Given the description of an element on the screen output the (x, y) to click on. 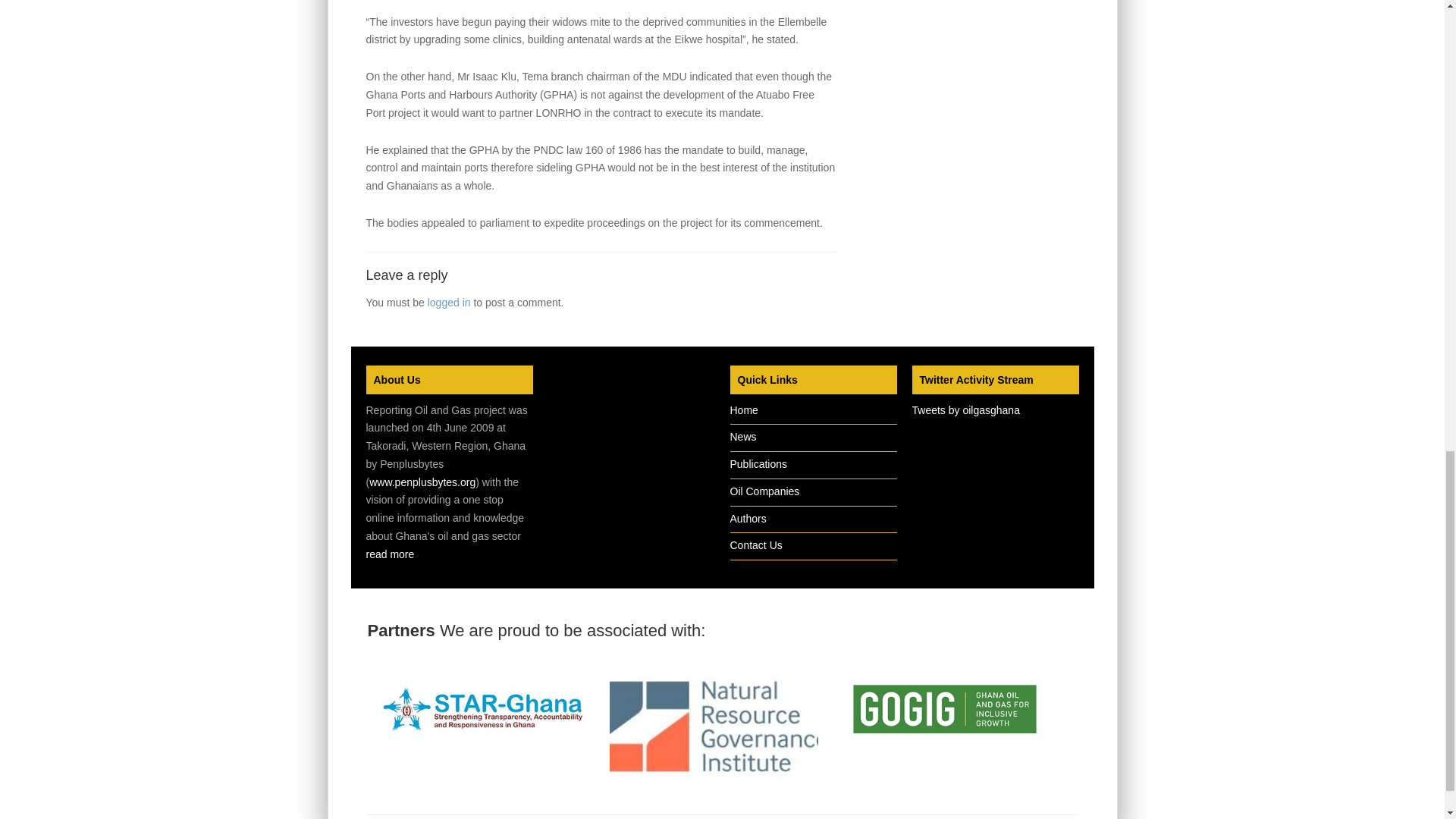
Oil Companies (764, 491)
Publications (758, 463)
read more (389, 553)
News (742, 436)
Tweets by oilgasghana (965, 410)
Authors (747, 518)
logged in (449, 302)
Contact Us (755, 544)
www.penplusbytes.org (422, 481)
Home (743, 410)
